Given the description of an element on the screen output the (x, y) to click on. 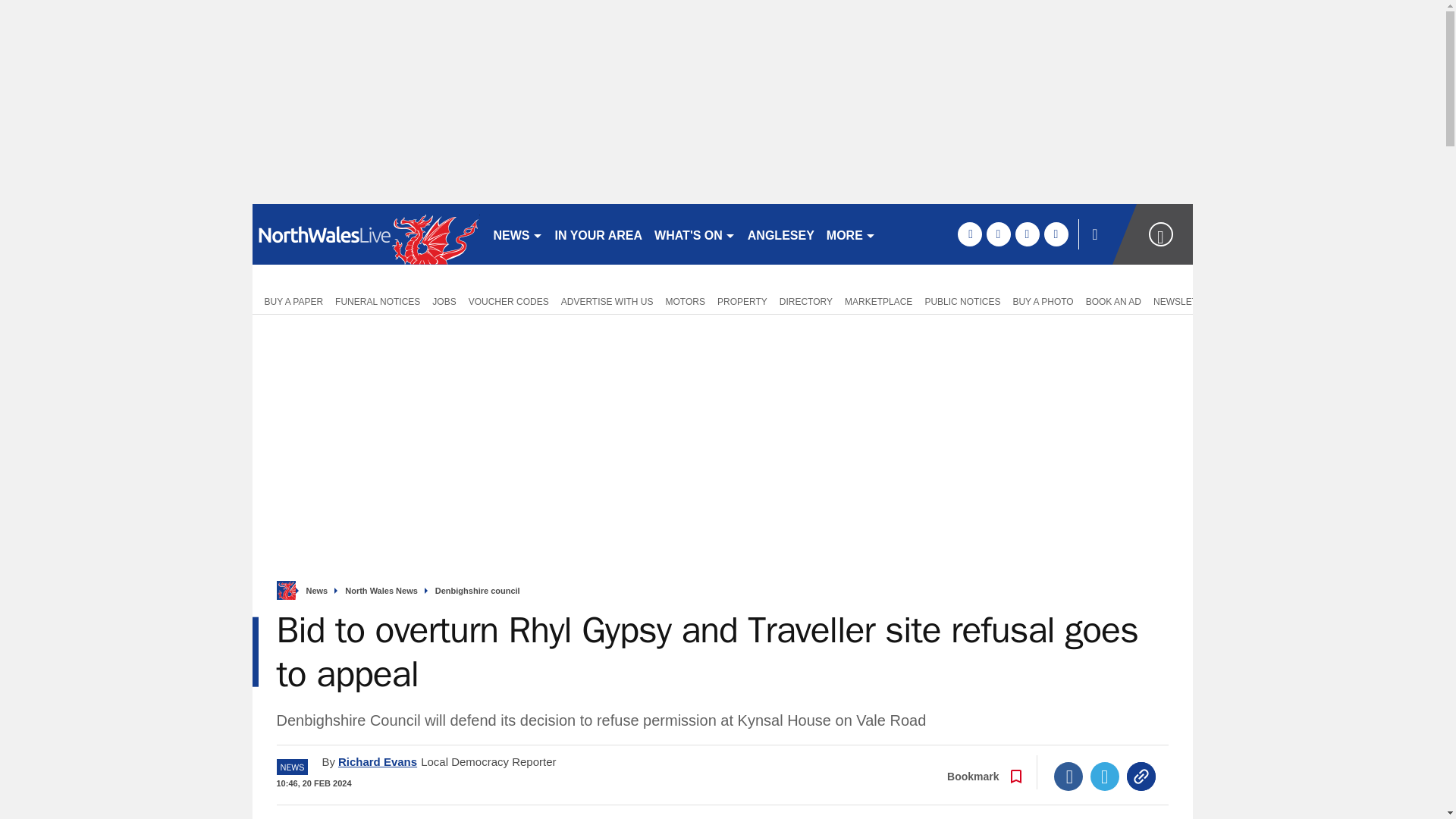
twitter (997, 233)
Twitter (1104, 776)
IN YOUR AREA (598, 233)
WHAT'S ON (694, 233)
Facebook (1068, 776)
BUY A PAPER (290, 300)
MOTORS (685, 300)
NEWS (517, 233)
northwales (365, 233)
ANGLESEY (781, 233)
